Given the description of an element on the screen output the (x, y) to click on. 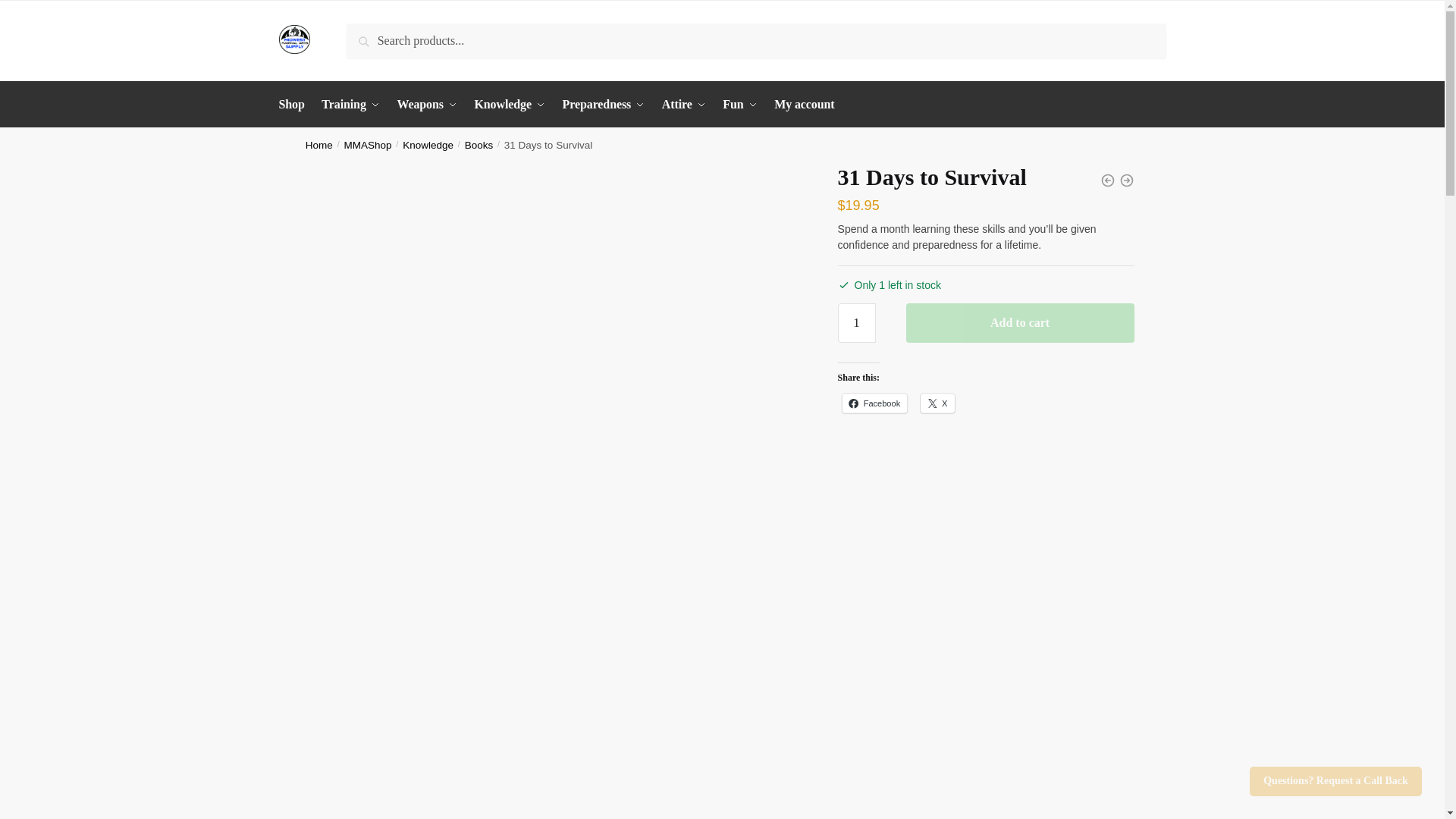
Knowledge (509, 104)
Training (351, 104)
Weapons (427, 104)
Search (367, 34)
Preparedness (603, 104)
Click to share on X (940, 404)
1 (857, 323)
Click to share on Facebook (879, 404)
